Given the description of an element on the screen output the (x, y) to click on. 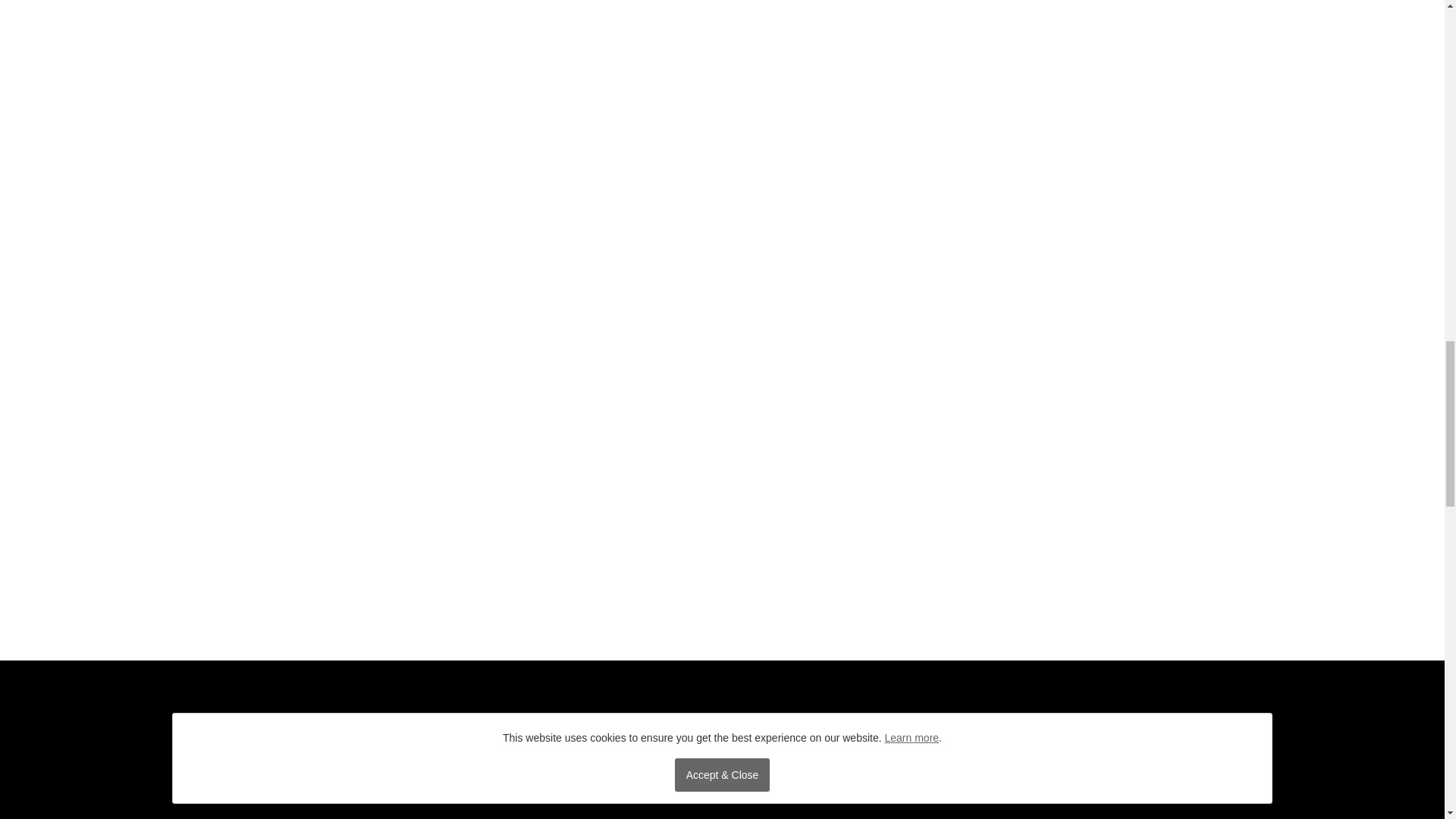
Post Comment (489, 238)
